Given the description of an element on the screen output the (x, y) to click on. 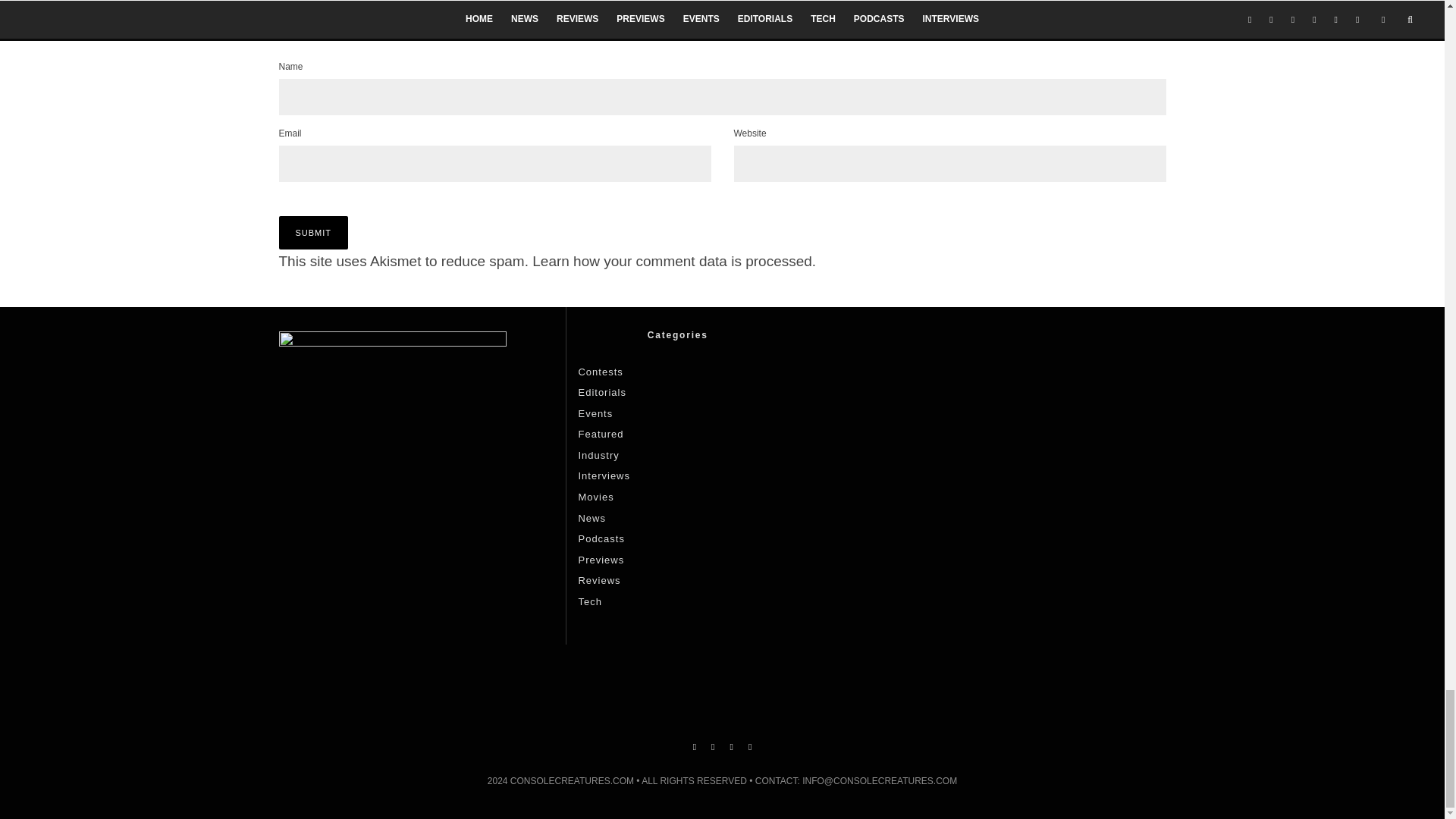
Submit (314, 232)
